Given the description of an element on the screen output the (x, y) to click on. 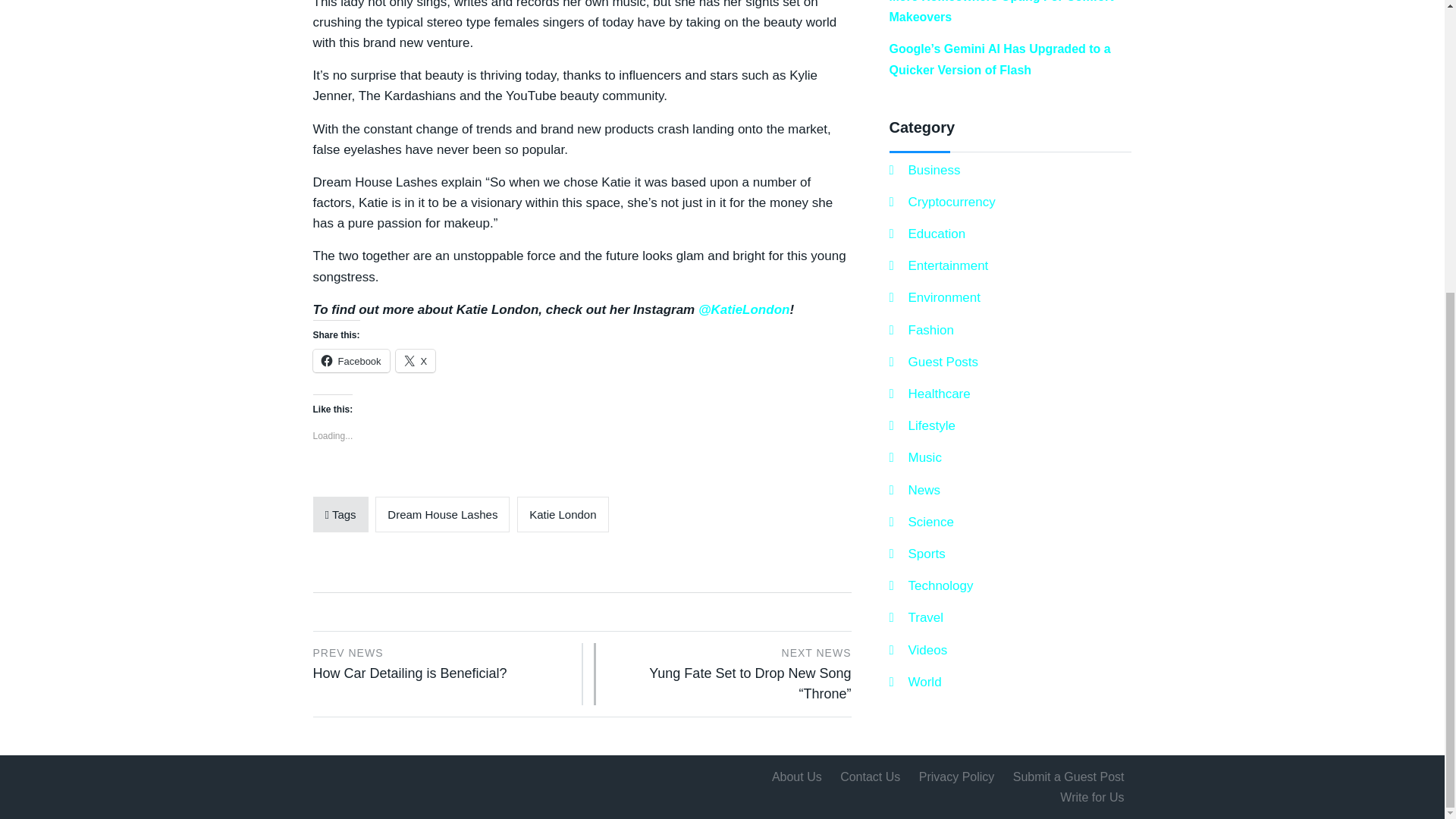
Guest Posts (933, 362)
Dream House Lashes (442, 514)
Cryptocurrency (941, 201)
Education (926, 233)
Click to share on X (415, 360)
Facebook (350, 360)
X (415, 360)
Katie London (562, 514)
Fashion (920, 330)
Environment (933, 297)
More Homeowners Opting For Comfort Makeovers (1000, 11)
Healthcare (441, 661)
Entertainment (928, 394)
Business (938, 265)
